Given the description of an element on the screen output the (x, y) to click on. 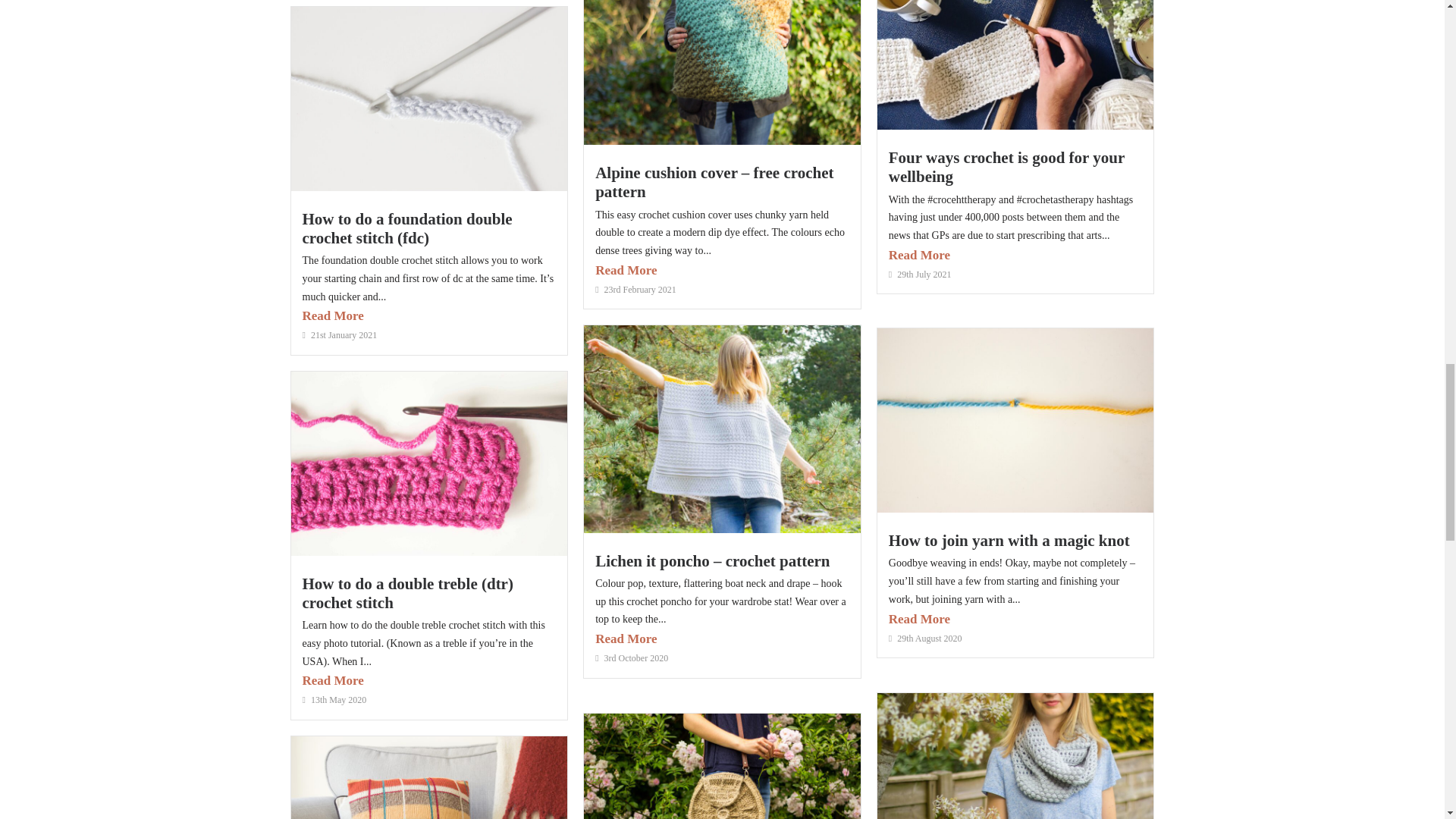
Four ways crochet is good for your wellbeing (1006, 166)
Four ways crochet is good for your wellbeing (1006, 166)
How to join yarn with a magic knot (1008, 540)
